Given the description of an element on the screen output the (x, y) to click on. 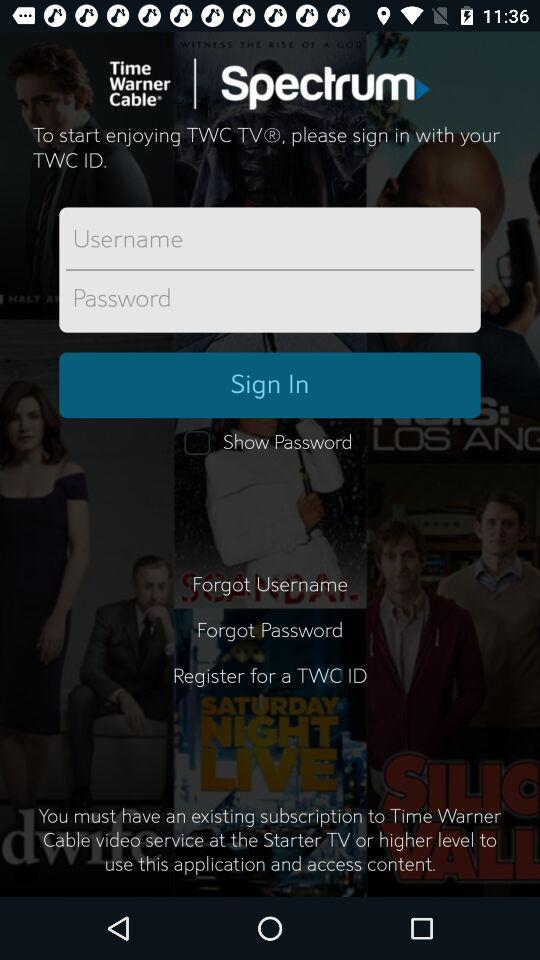
sign in with password (270, 299)
